Given the description of an element on the screen output the (x, y) to click on. 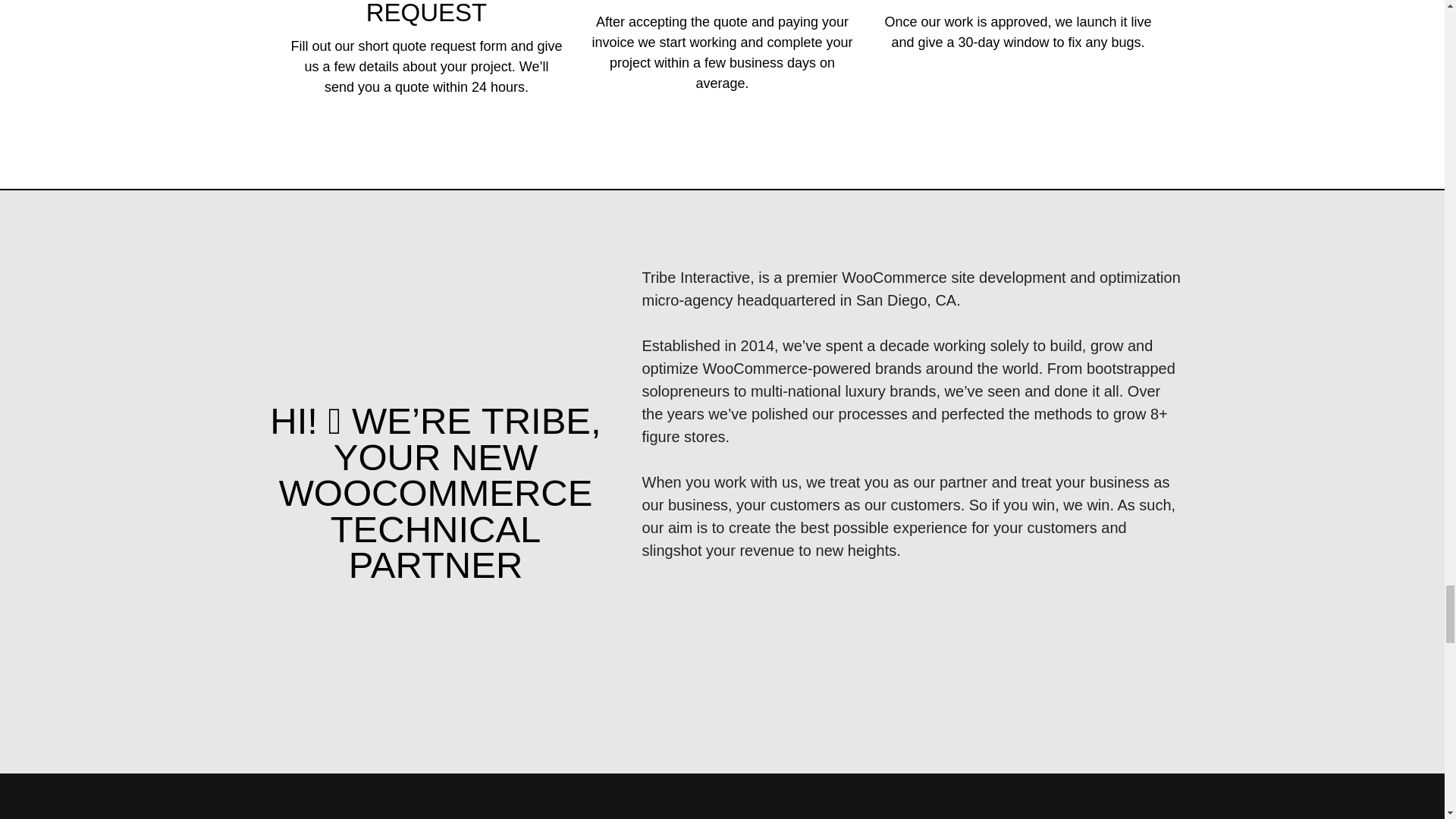
tribe-team (435, 334)
klaviyo-partner-badge (536, 659)
woocommerce-expert-A (352, 659)
